Given the description of an element on the screen output the (x, y) to click on. 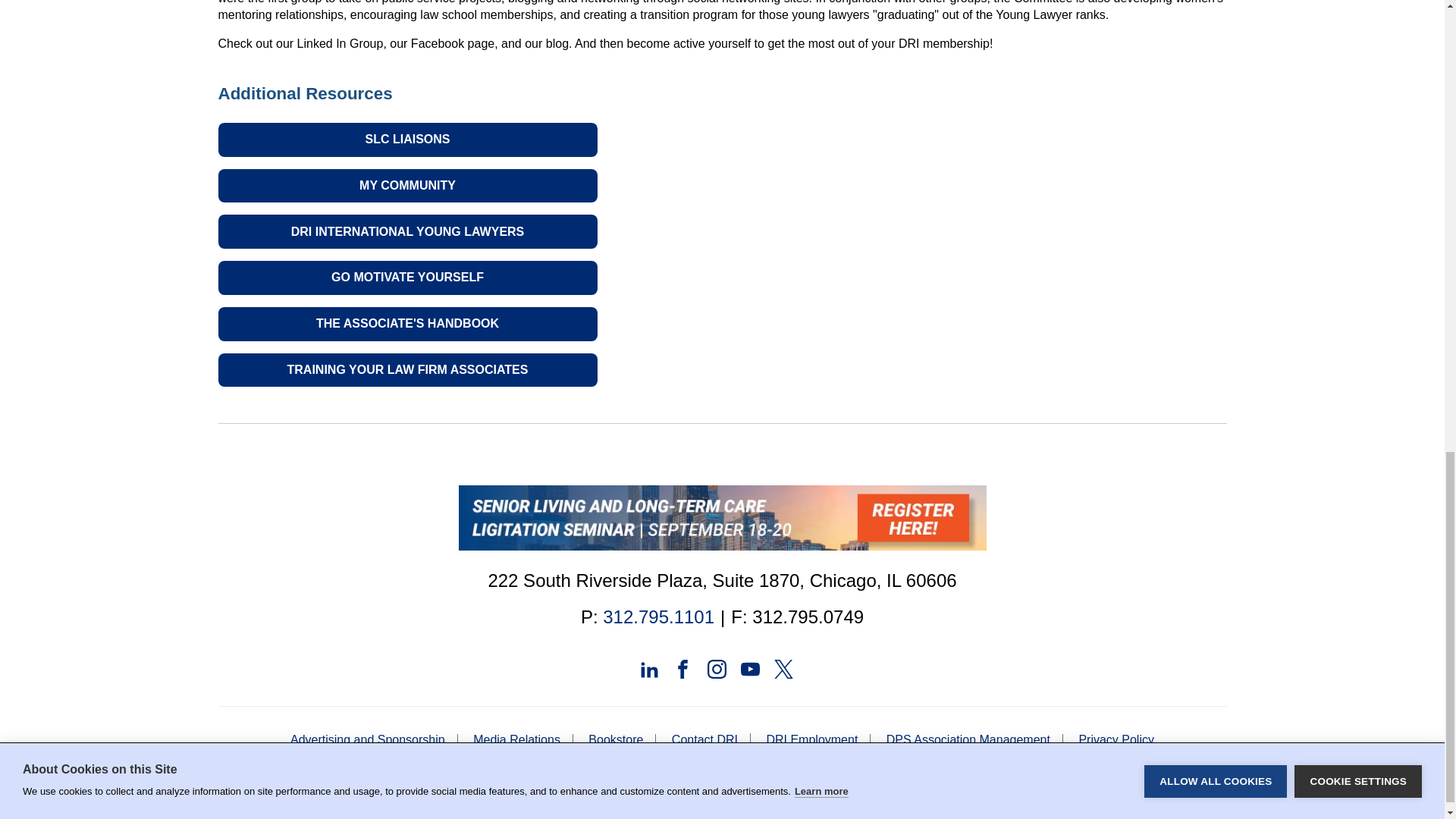
DRI LinkedIn (649, 667)
DRI Facebook (682, 667)
DRI Instagram (715, 667)
DRI YouTube (750, 667)
